Given the description of an element on the screen output the (x, y) to click on. 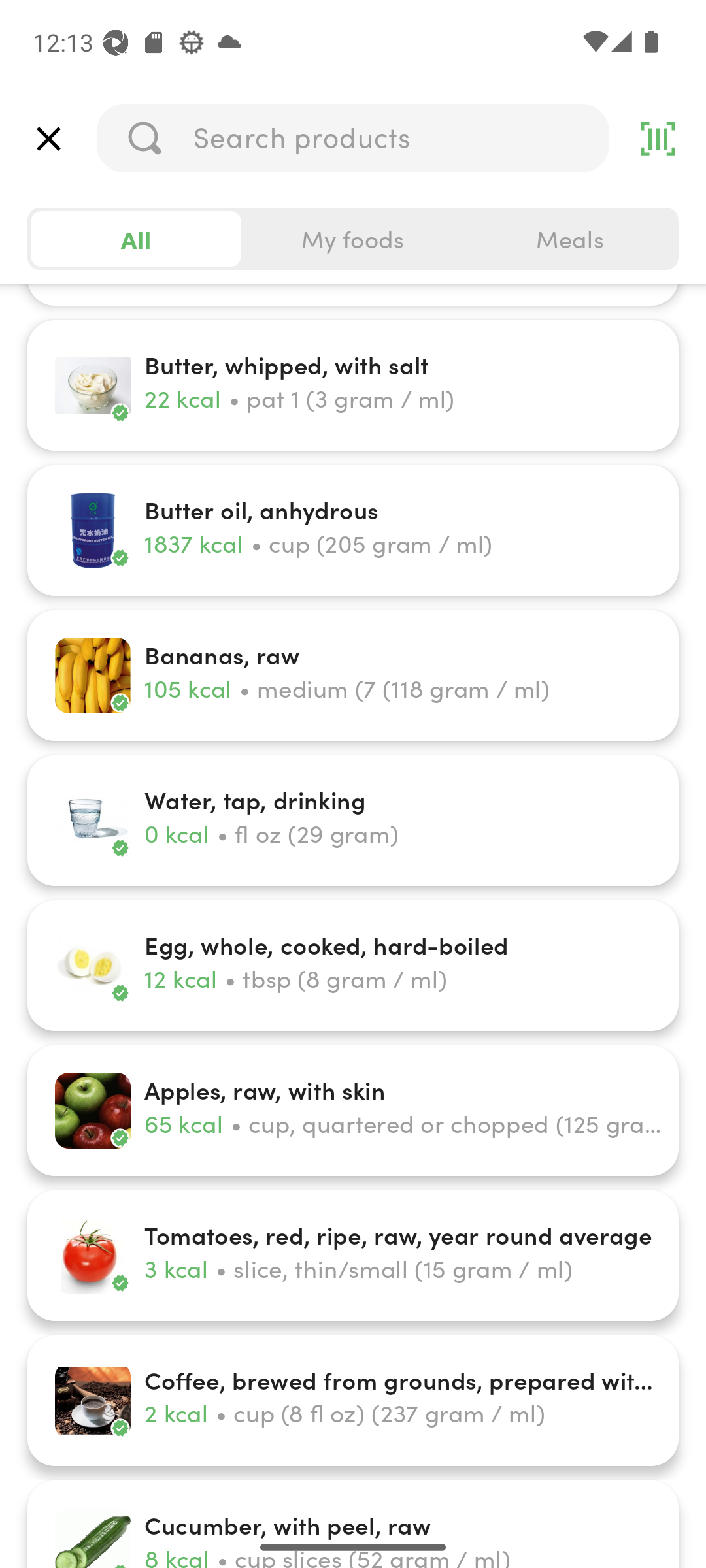
top_left_action (48, 138)
top_right_action (658, 138)
My foods (352, 238)
Meals (569, 238)
Bananas, raw 105 kcal  • medium (7 (118 gram / ml) (352, 674)
Water, tap, drinking 0 kcal  • fl oz (29 gram) (352, 820)
